Given the description of an element on the screen output the (x, y) to click on. 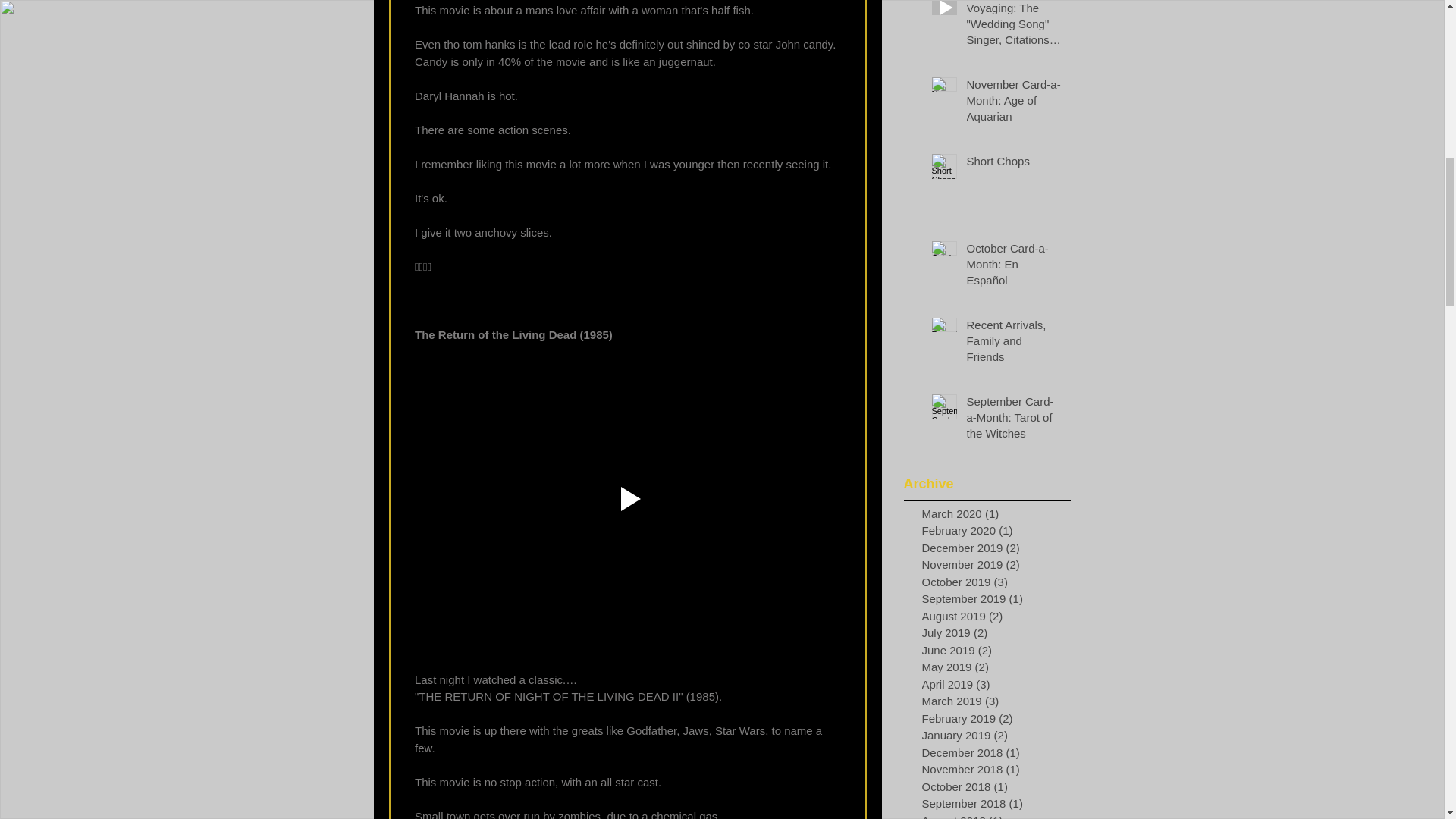
Short Chops (1013, 164)
September Card-a-Month: Tarot of the Witches (1013, 420)
Recent Arrivals, Family and Friends (1013, 343)
November Card-a-Month: Age of Aquarian (1013, 103)
